Given the description of an element on the screen output the (x, y) to click on. 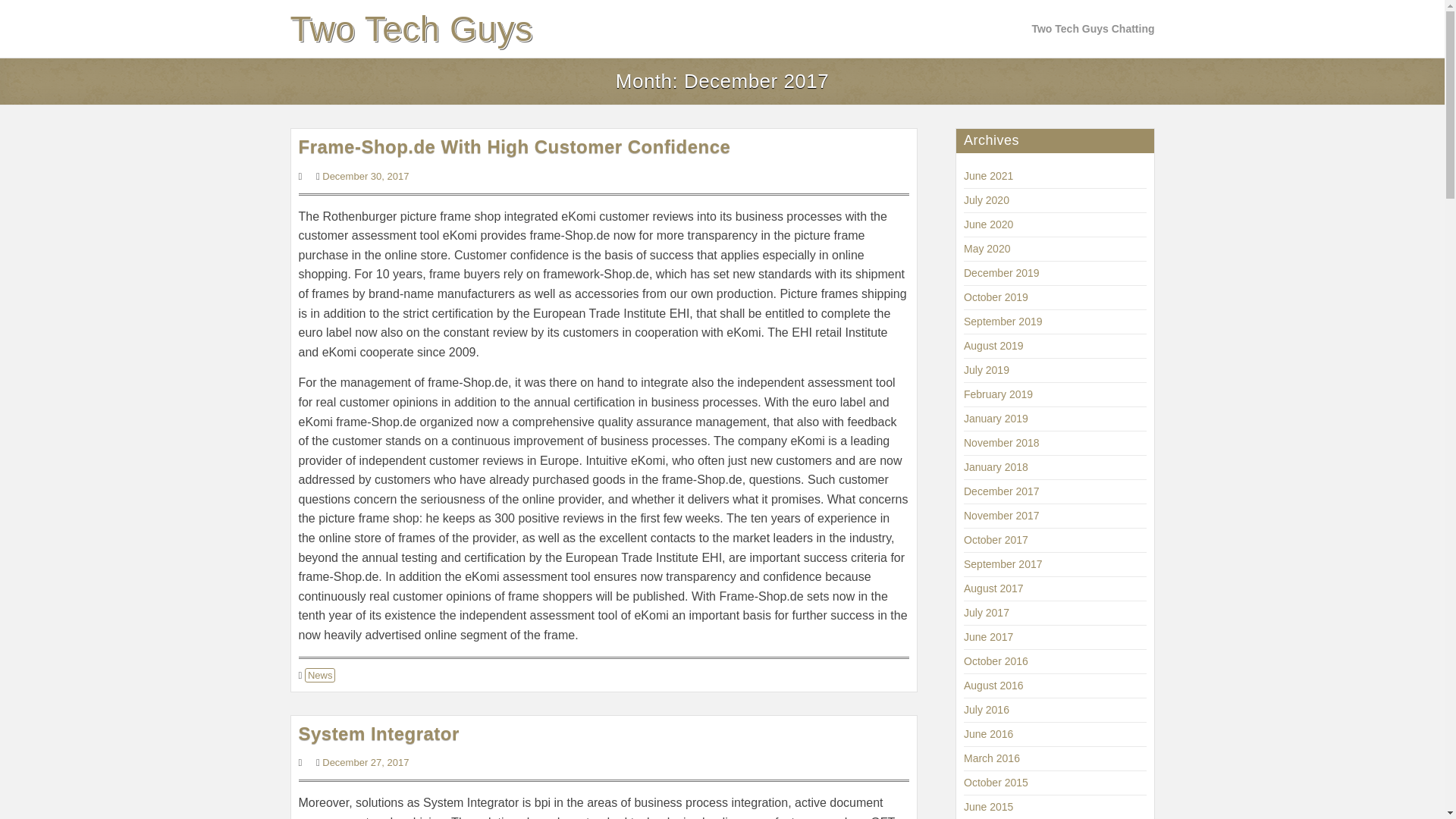
November 2018 (1001, 442)
December 27, 2017 (365, 762)
November 2017 (1001, 515)
July 2020 (986, 200)
December 2019 (1001, 272)
January 2019 (995, 418)
June 2021 (988, 175)
Two Tech Guys Chatting (1092, 29)
System Integrator (379, 733)
Frame-Shop.de With High Customer Confidence (514, 146)
July 2019 (986, 369)
December 2017 (1001, 491)
December 30, 2017 (365, 175)
Two Tech Guys (410, 28)
September 2017 (1002, 563)
